Given the description of an element on the screen output the (x, y) to click on. 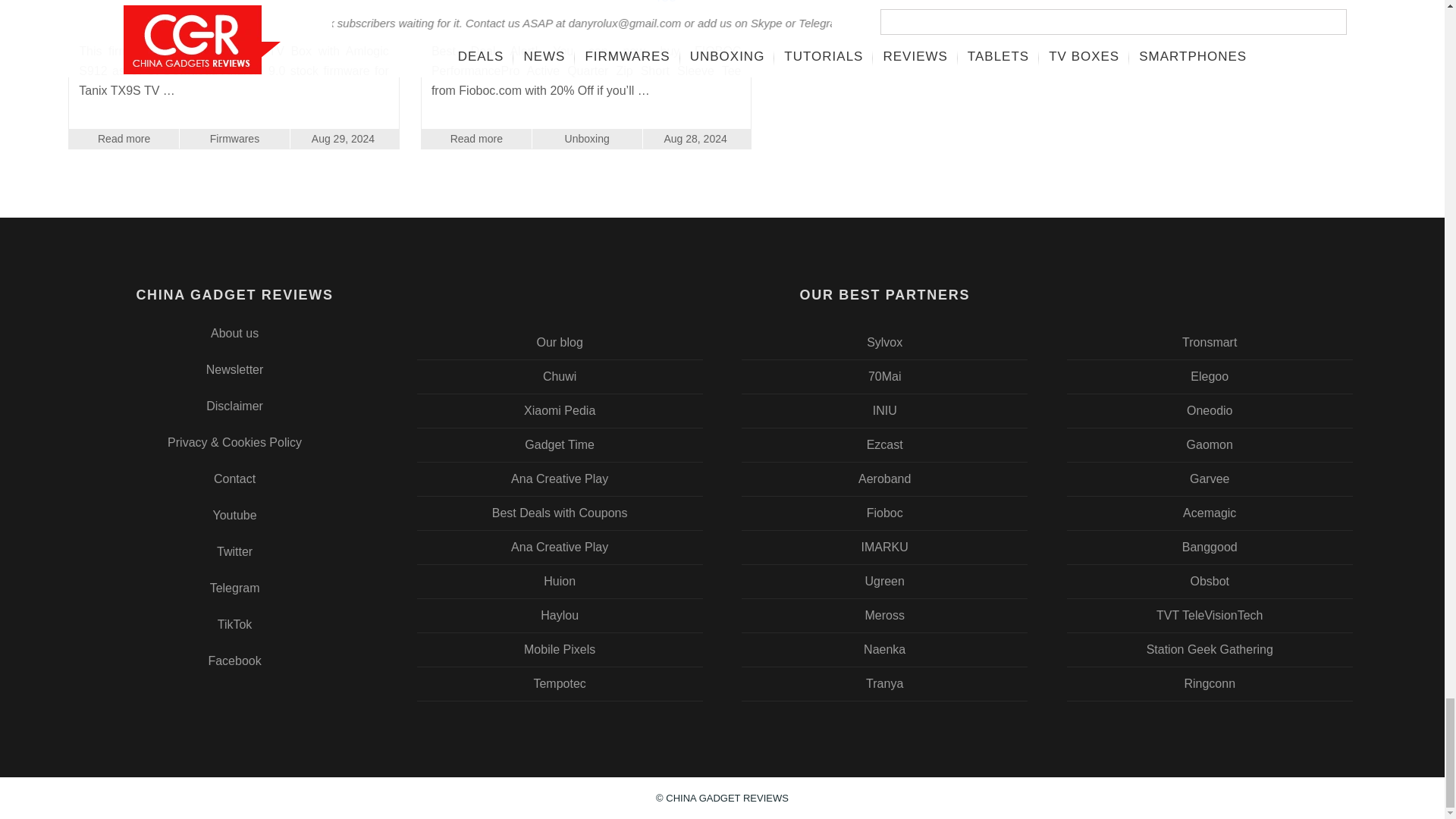
Huion Official Website (559, 581)
Best outdoor TV, Bathroom TV, RV TV and kitchen TV for sale (885, 342)
Haylou website (559, 615)
anacreativeplay (559, 547)
Best Deals with Coupons (559, 512)
